Given the description of an element on the screen output the (x, y) to click on. 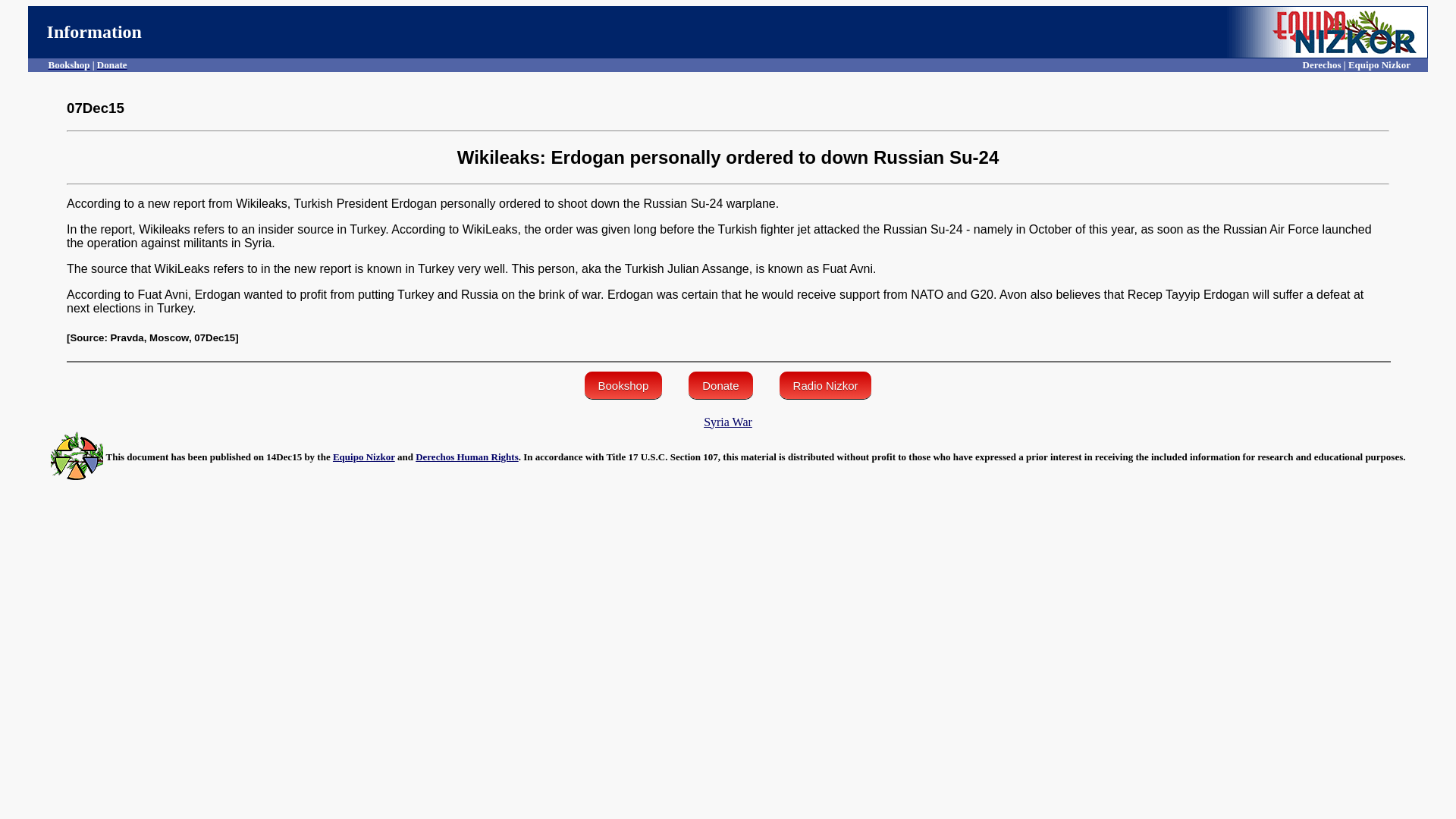
Radio Nizkor (825, 384)
Equipo Nizkor (363, 456)
Syria War (727, 421)
Donate (720, 384)
Derechos Human Rights (466, 456)
Donate (112, 64)
Bookshop (69, 64)
Bookshop (623, 384)
